Given the description of an element on the screen output the (x, y) to click on. 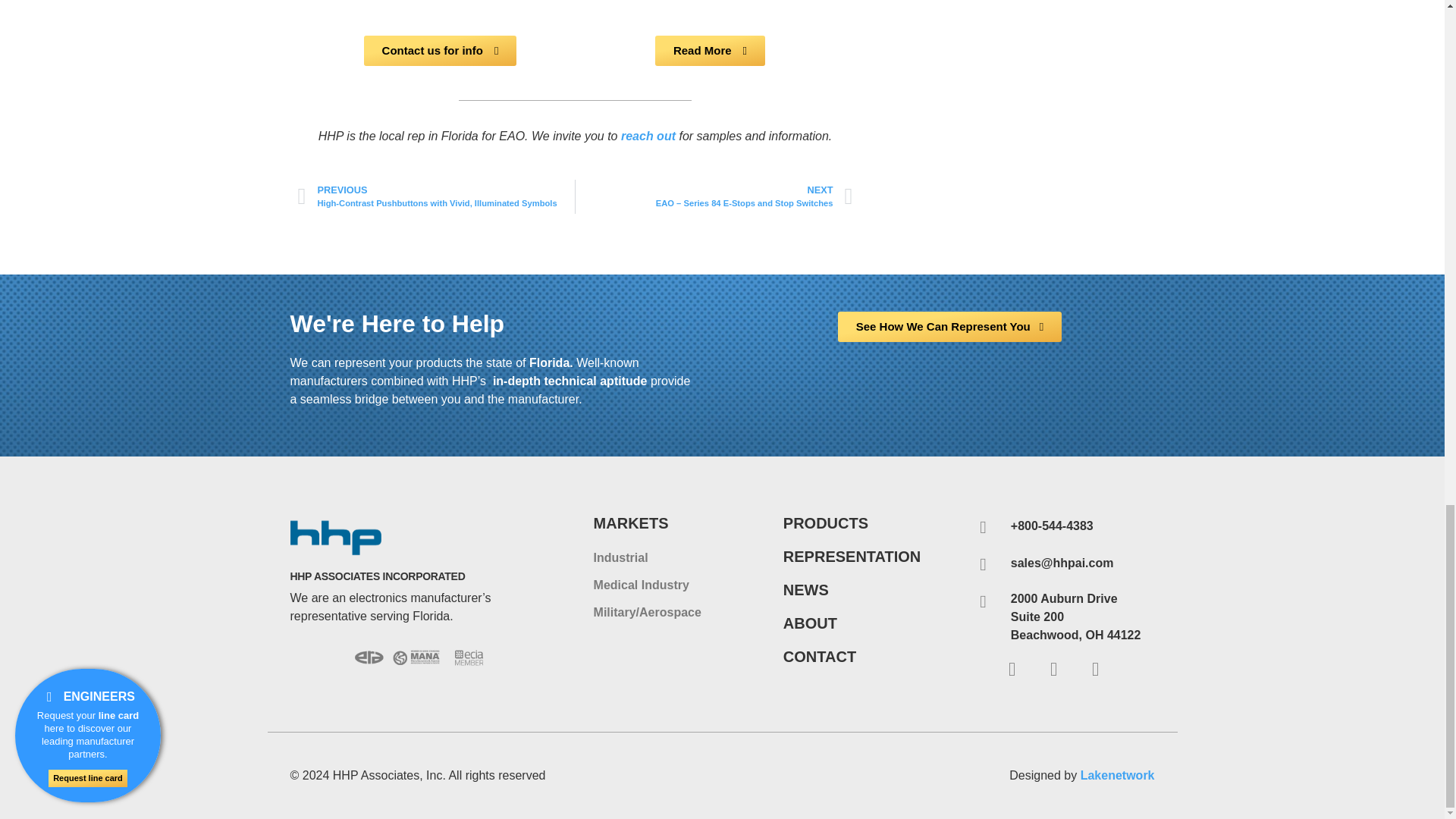
Contact us for info (440, 51)
See How We Can Represent You (950, 327)
Read More (710, 51)
reach out (648, 135)
